Given the description of an element on the screen output the (x, y) to click on. 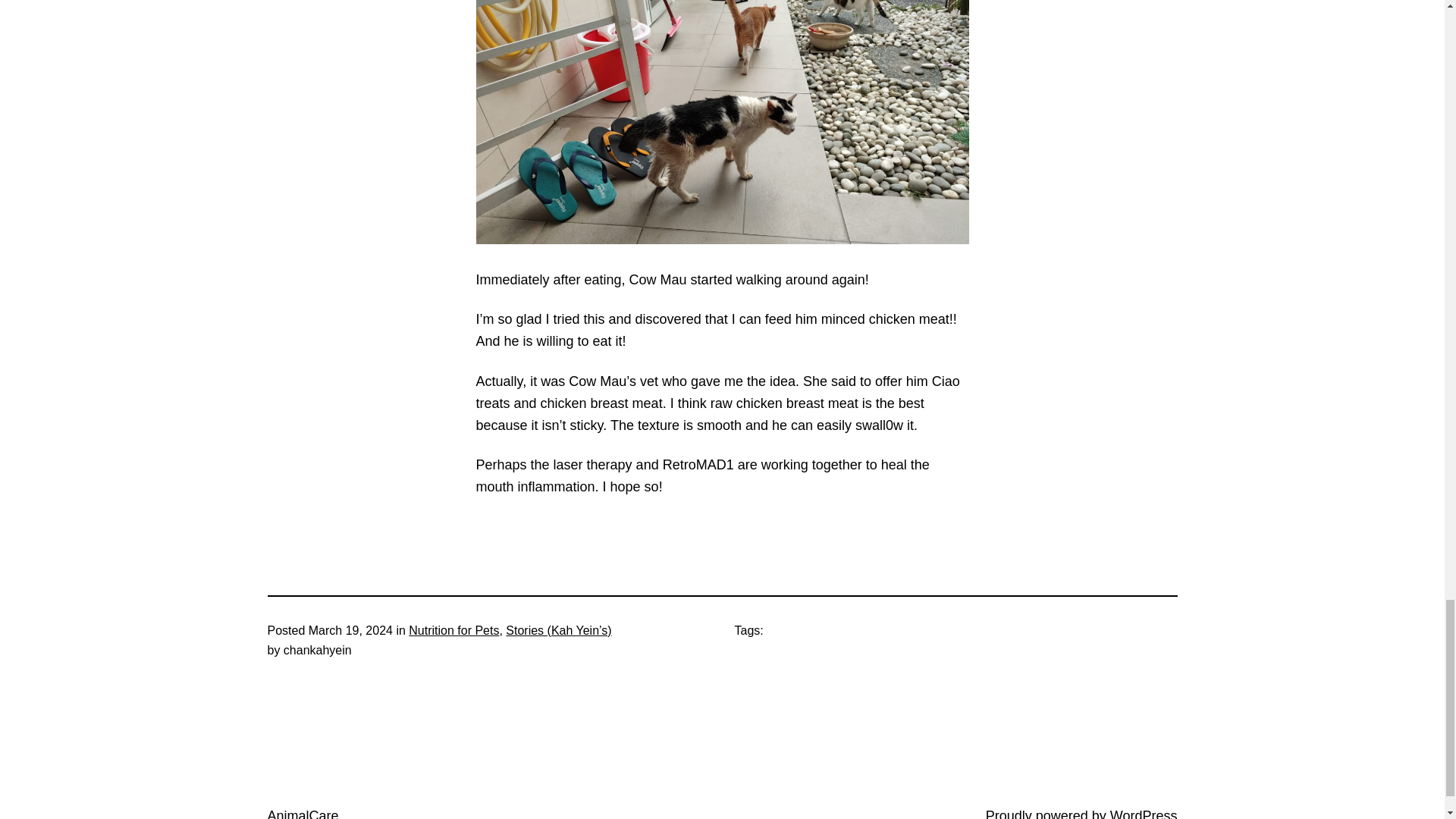
AnimalCare (301, 813)
Nutrition for Pets (454, 630)
WordPress (1143, 813)
